Given the description of an element on the screen output the (x, y) to click on. 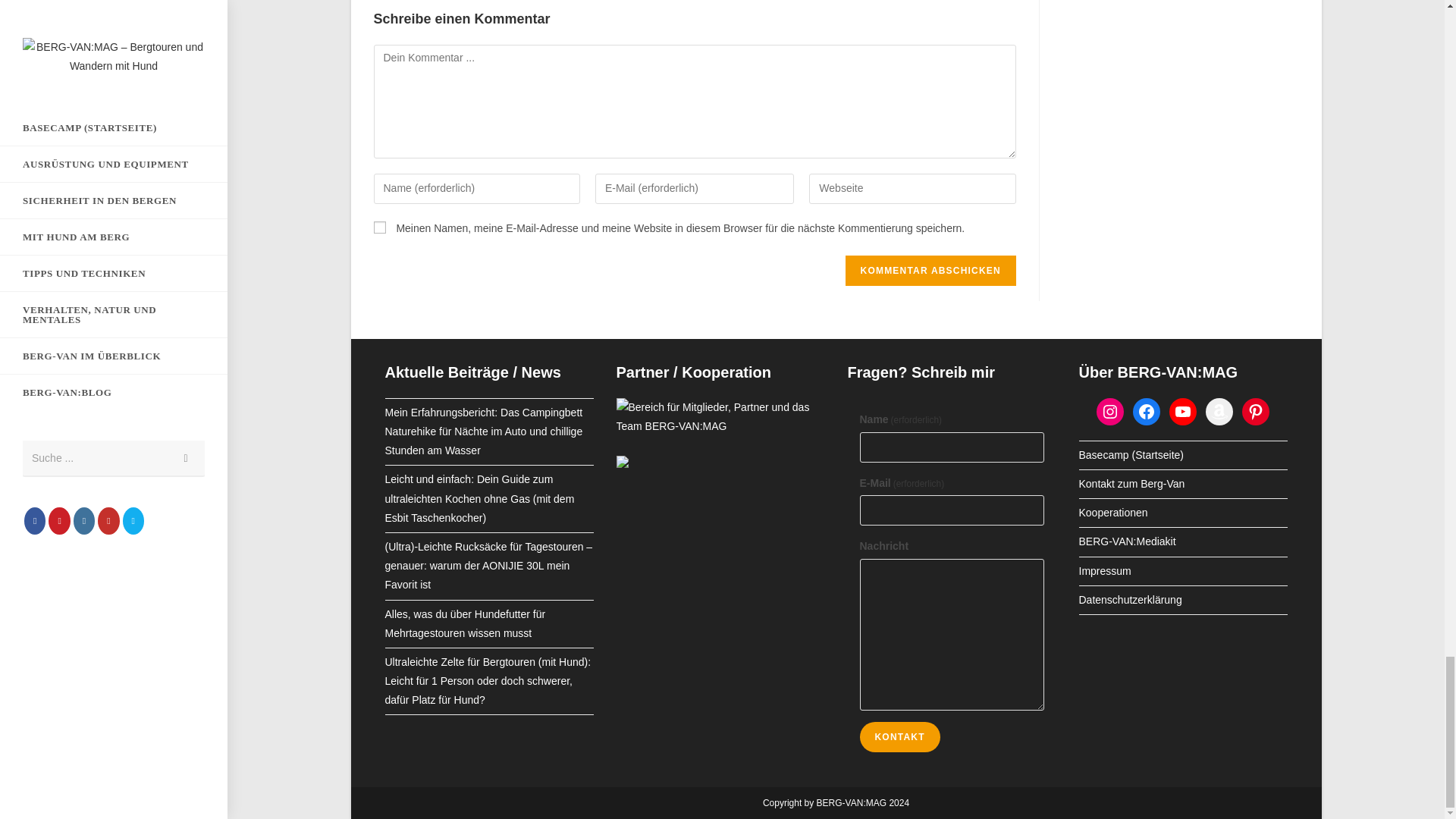
Kommentar abschicken (930, 270)
yes (378, 227)
